Given the description of an element on the screen output the (x, y) to click on. 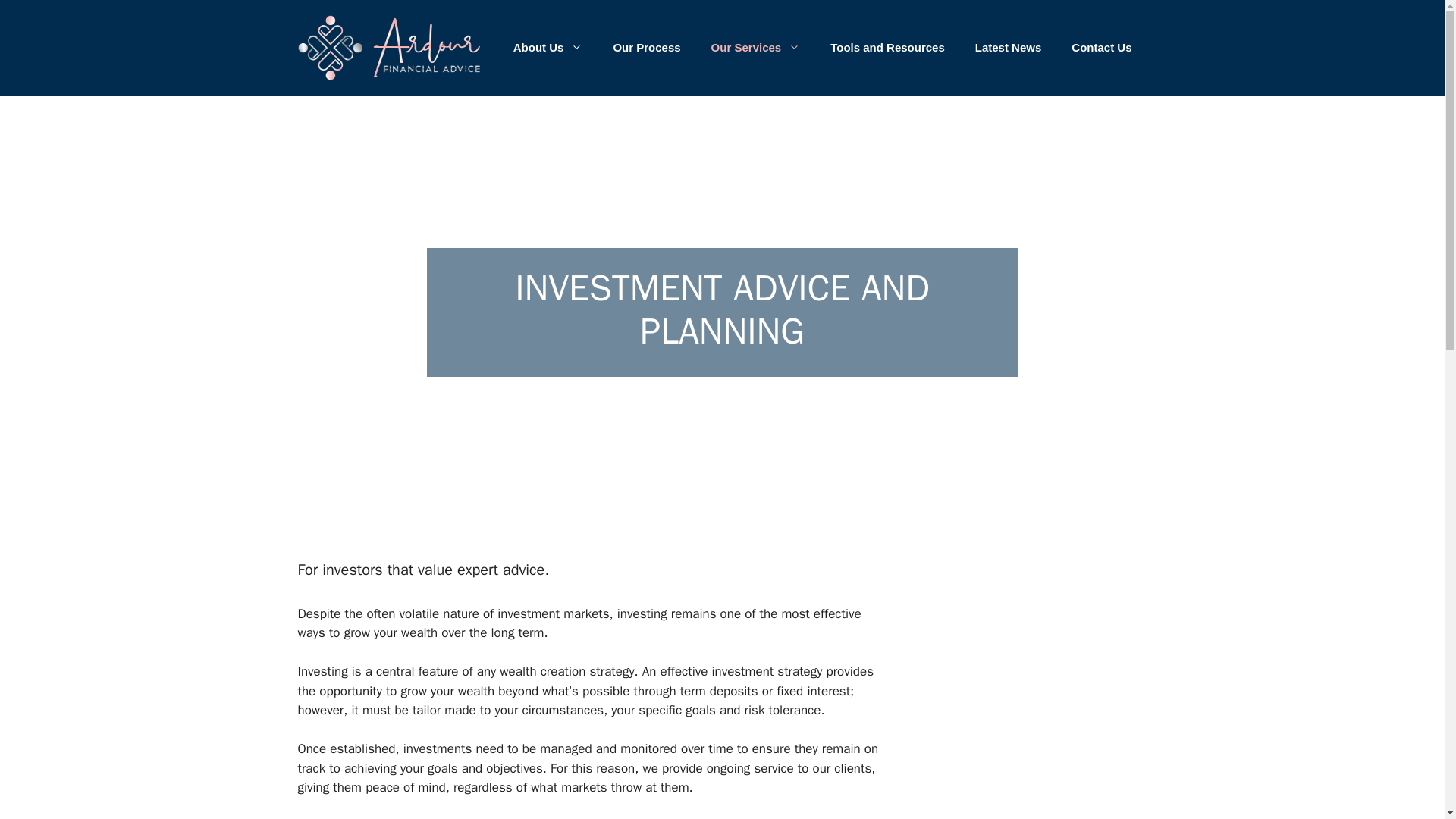
Our Services (755, 47)
Tools and Resources (887, 47)
Contact Us (1102, 47)
Our Process (645, 47)
contact us (657, 818)
About Us (547, 47)
download (767, 818)
Latest News (1008, 47)
